Given the description of an element on the screen output the (x, y) to click on. 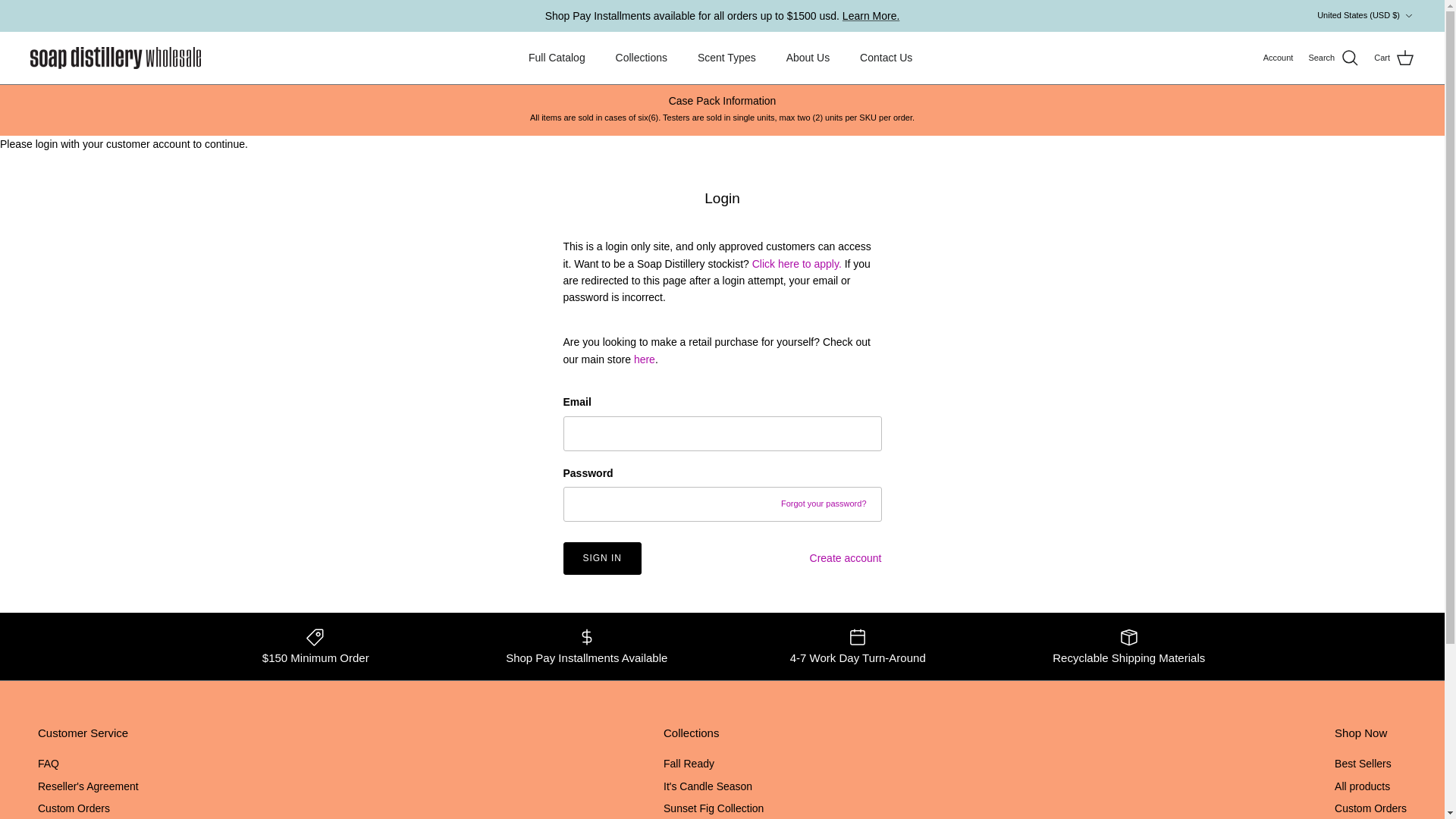
Learn More. (871, 15)
Soap Distillery Wholesale (115, 57)
Down (1408, 15)
